Given the description of an element on the screen output the (x, y) to click on. 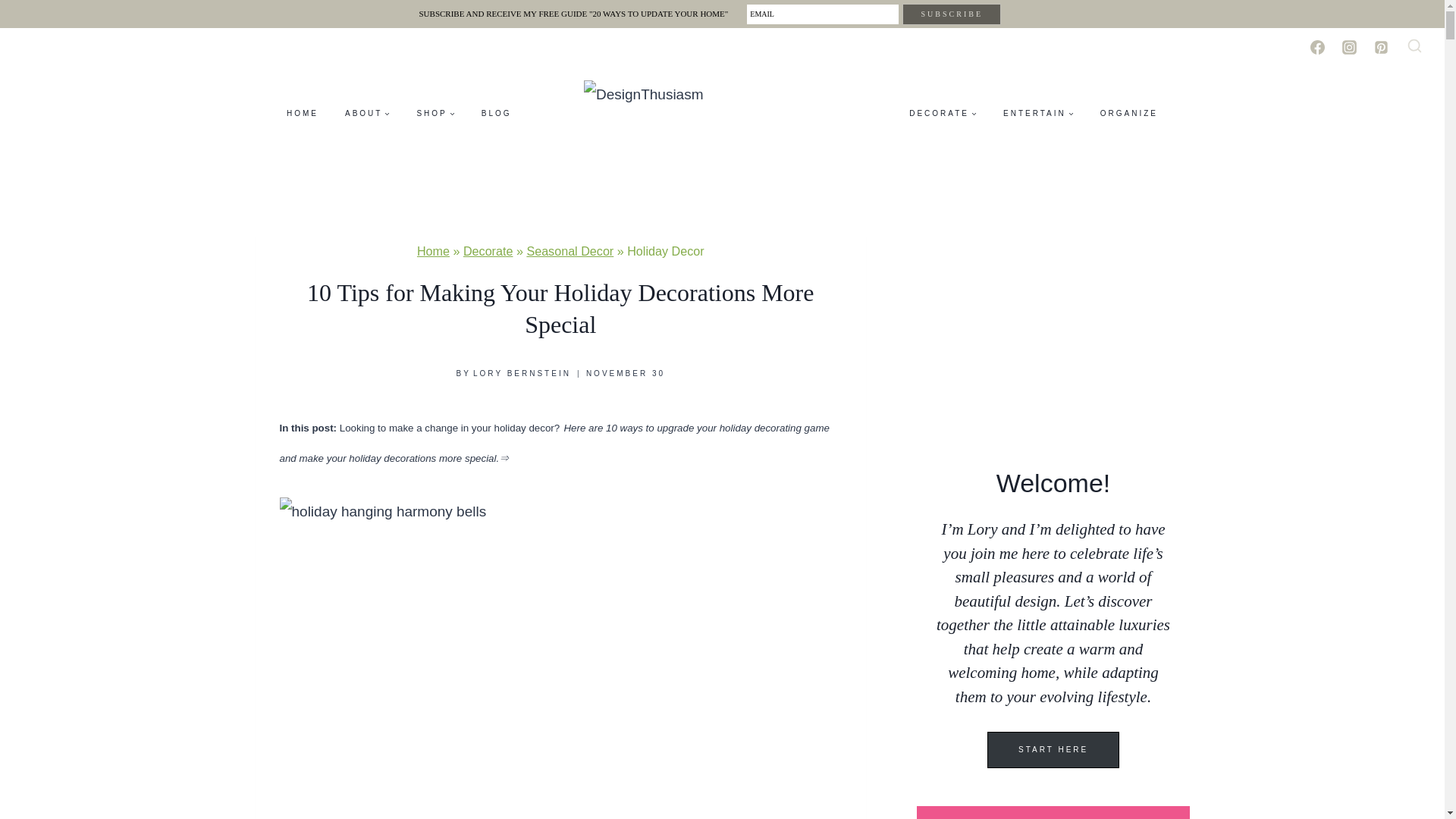
BLOG (495, 112)
HOME (302, 112)
SUBSCRIBE (951, 14)
DECORATE (943, 112)
SHOP (435, 112)
ABOUT (367, 112)
